Given the description of an element on the screen output the (x, y) to click on. 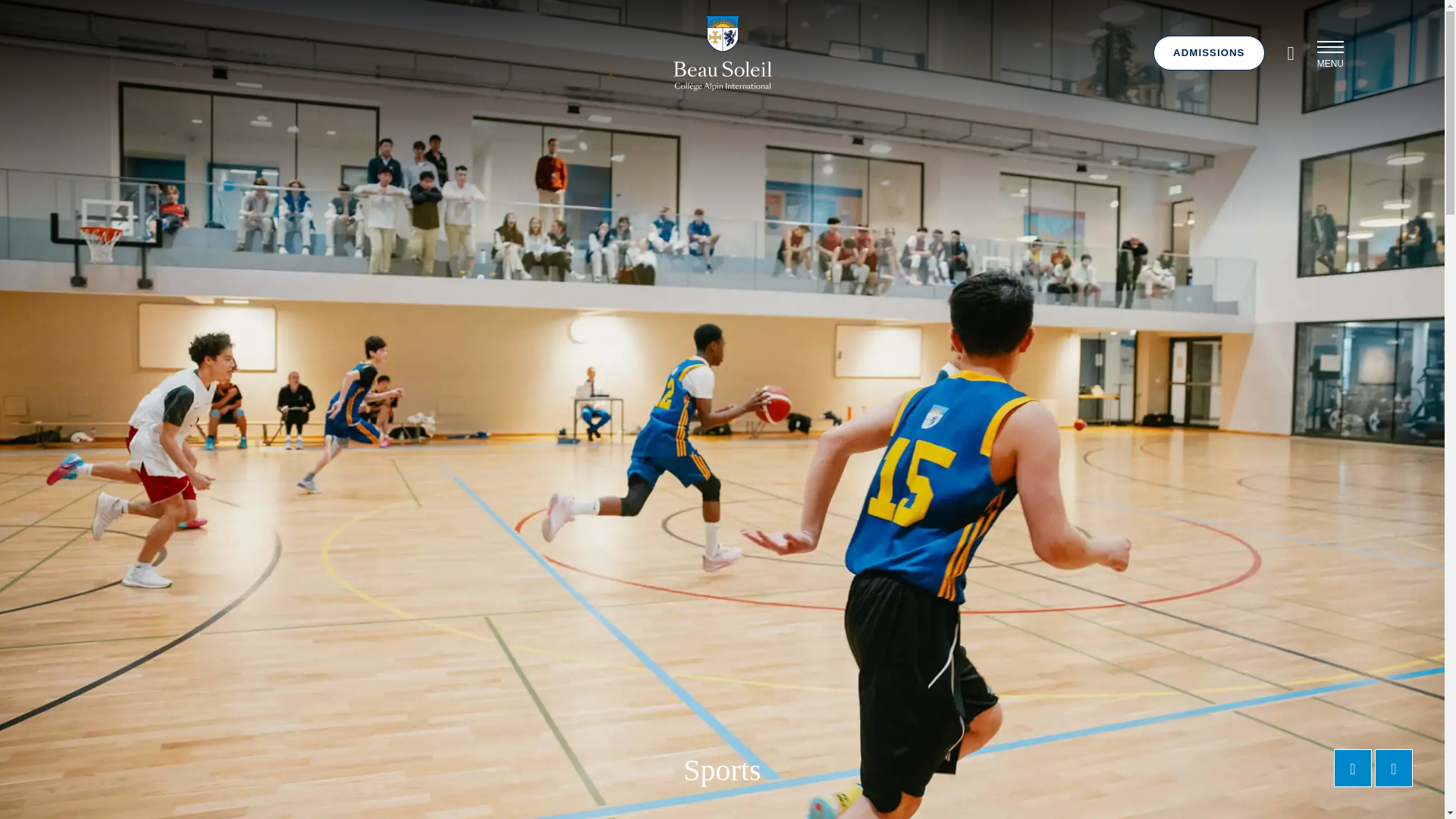
Menu (1330, 54)
ADMISSIONS (1208, 53)
